Given the description of an element on the screen output the (x, y) to click on. 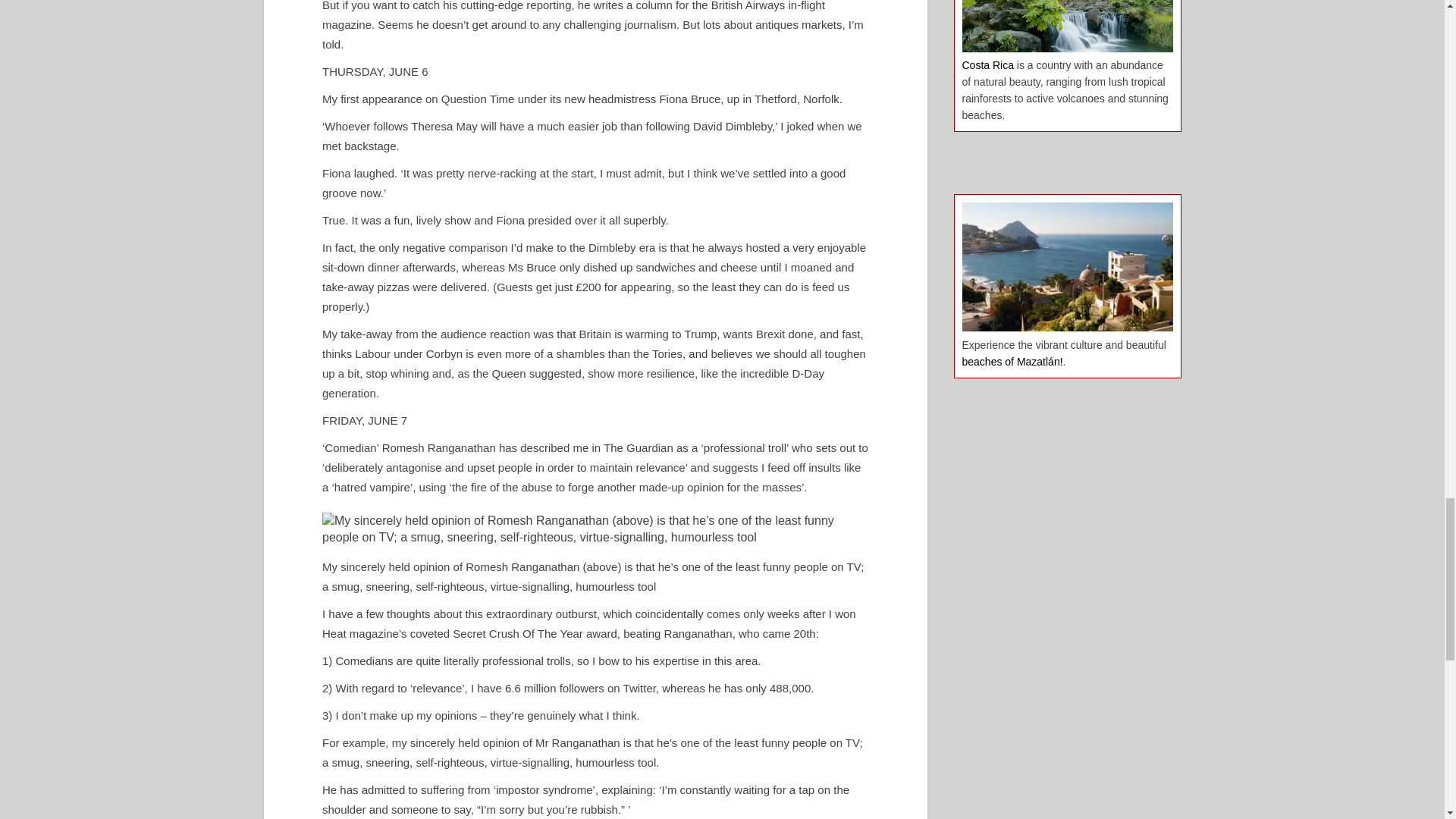
Costa Rica (986, 64)
